Given the description of an element on the screen output the (x, y) to click on. 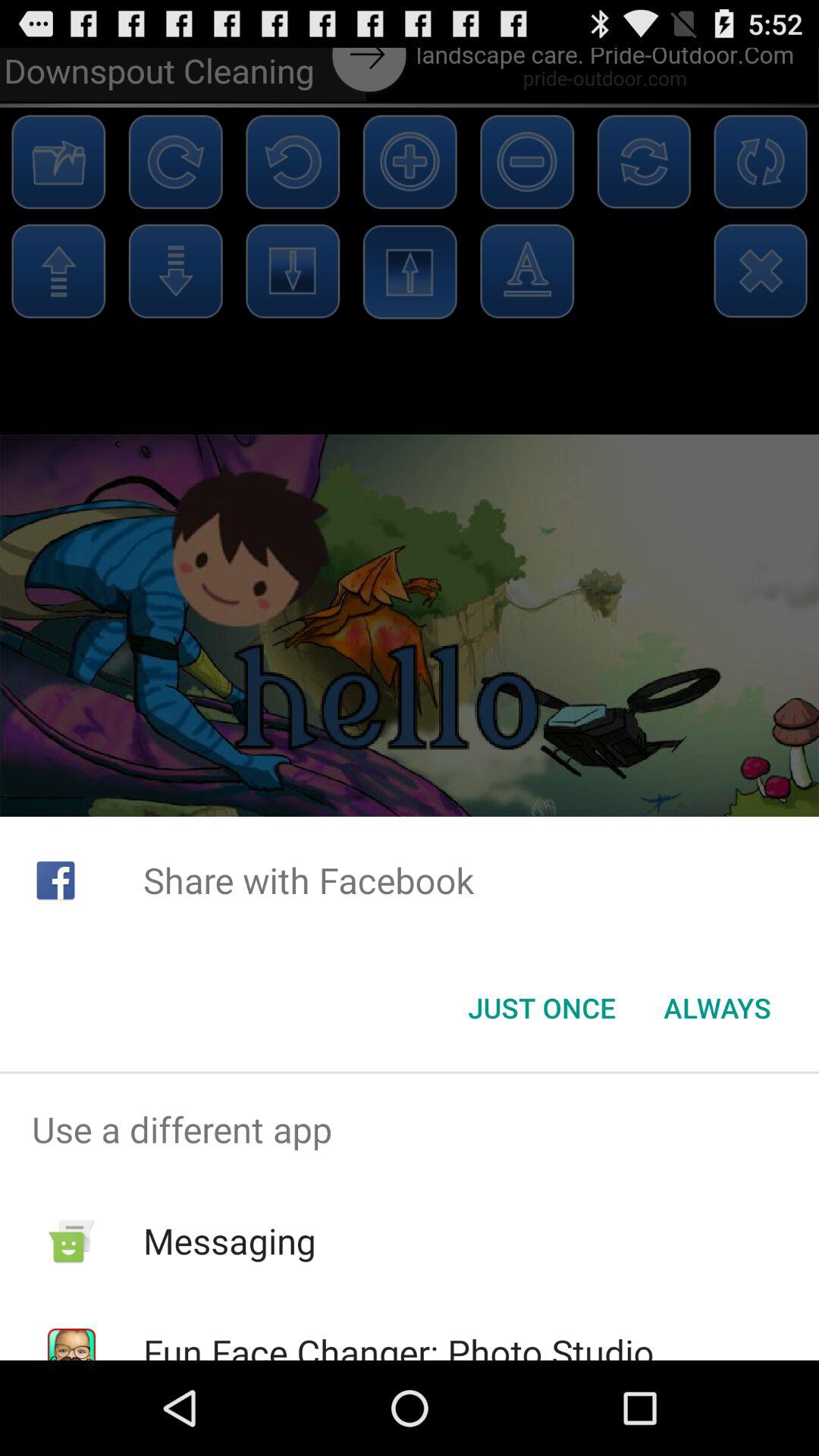
launch the app above messaging app (409, 1129)
